Given the description of an element on the screen output the (x, y) to click on. 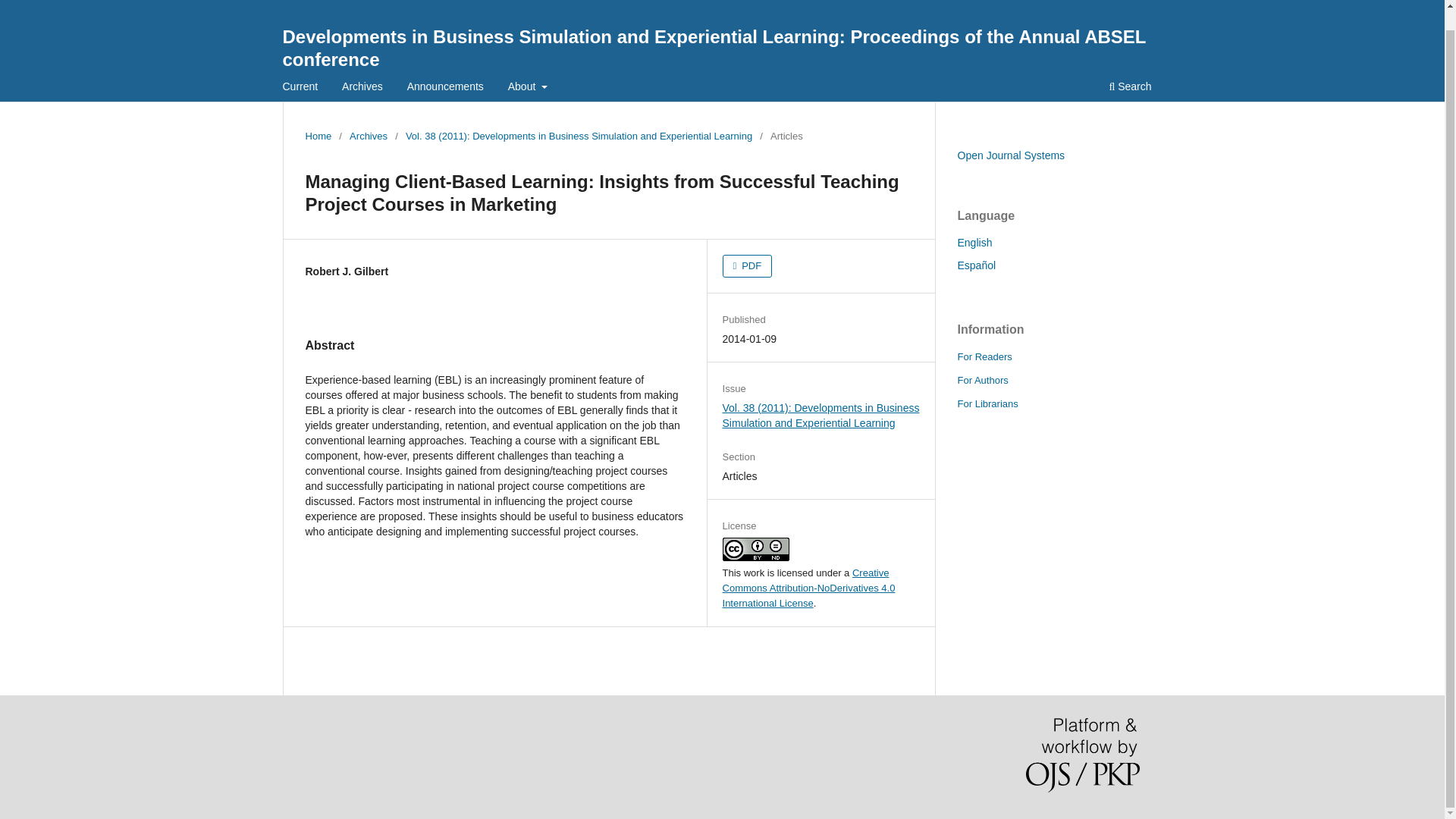
Open Journal Systems (1010, 155)
Current (300, 88)
Archives (362, 88)
About (527, 88)
Home (317, 136)
For Authors (981, 379)
Register (1100, 1)
Login (1150, 1)
For Readers (983, 356)
